Given the description of an element on the screen output the (x, y) to click on. 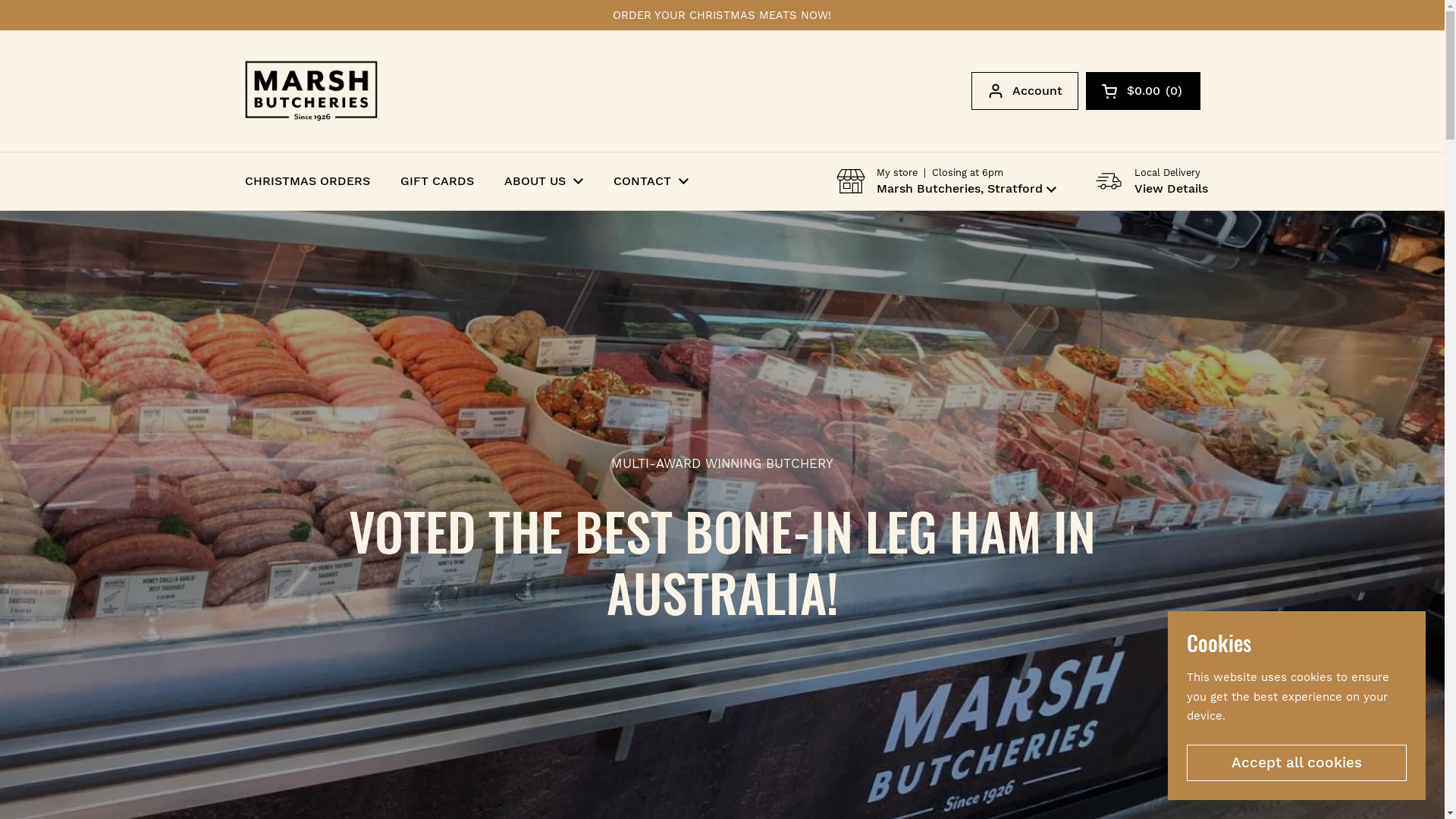
Skip to content Element type: text (0, 0)
Account Element type: text (1023, 90)
Open cart
$0.00
0 Element type: text (1142, 90)
Marsh Butcheries Element type: hover (310, 90)
CHRISTMAS ORDERS Element type: text (306, 180)
GIFT CARDS Element type: text (437, 180)
ABOUT US Element type: text (542, 180)
ORDER YOUR CHRISTMAS MEATS NOW! Element type: text (721, 15)
CONTACT Element type: text (649, 180)
Local Delivery
View Details Element type: text (1150, 180)
Accept all cookies Element type: text (1296, 762)
